Given the description of an element on the screen output the (x, y) to click on. 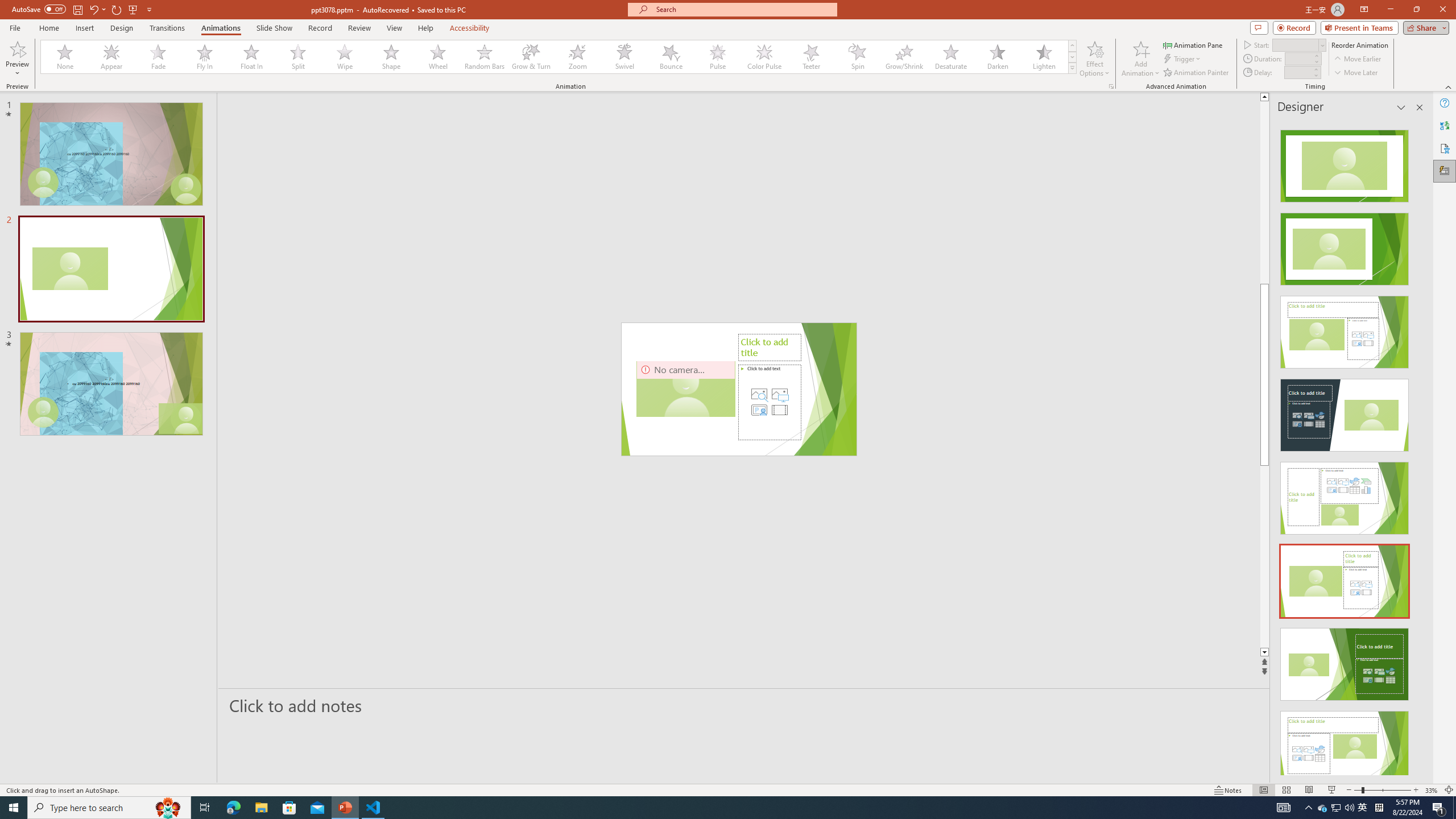
Fly In (205, 56)
Desaturate (950, 56)
Page up (1302, 192)
Less (1315, 75)
Collapse the Ribbon (1448, 86)
Pictures (779, 394)
Move Earlier (1357, 58)
Close pane (1419, 107)
Zoom to Fit  (1449, 790)
Zoom (577, 56)
Insert Video (779, 409)
Open (1321, 44)
Redo (117, 9)
Slide (111, 383)
Line down (1302, 652)
